Given the description of an element on the screen output the (x, y) to click on. 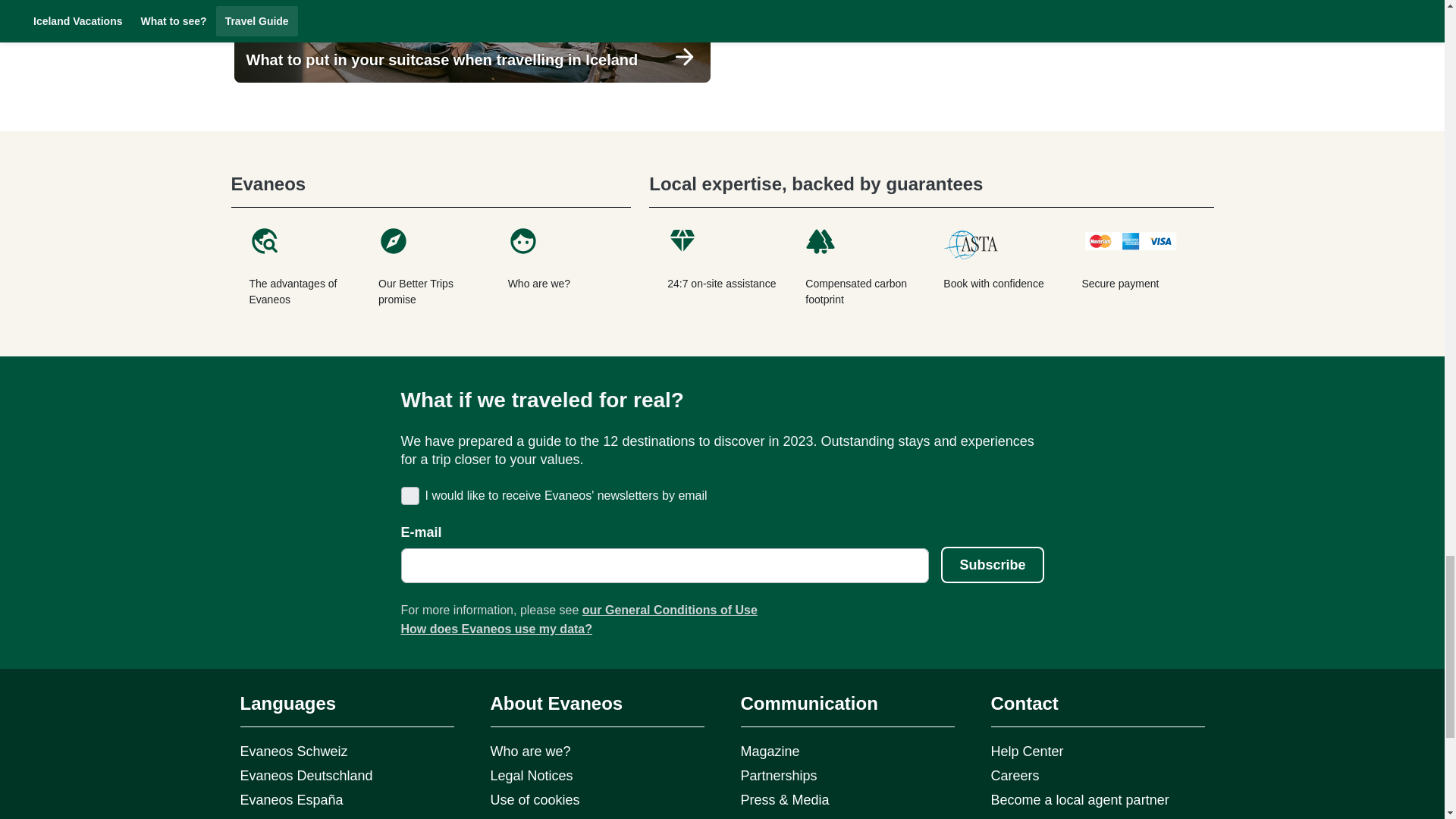
on (408, 494)
